Given the description of an element on the screen output the (x, y) to click on. 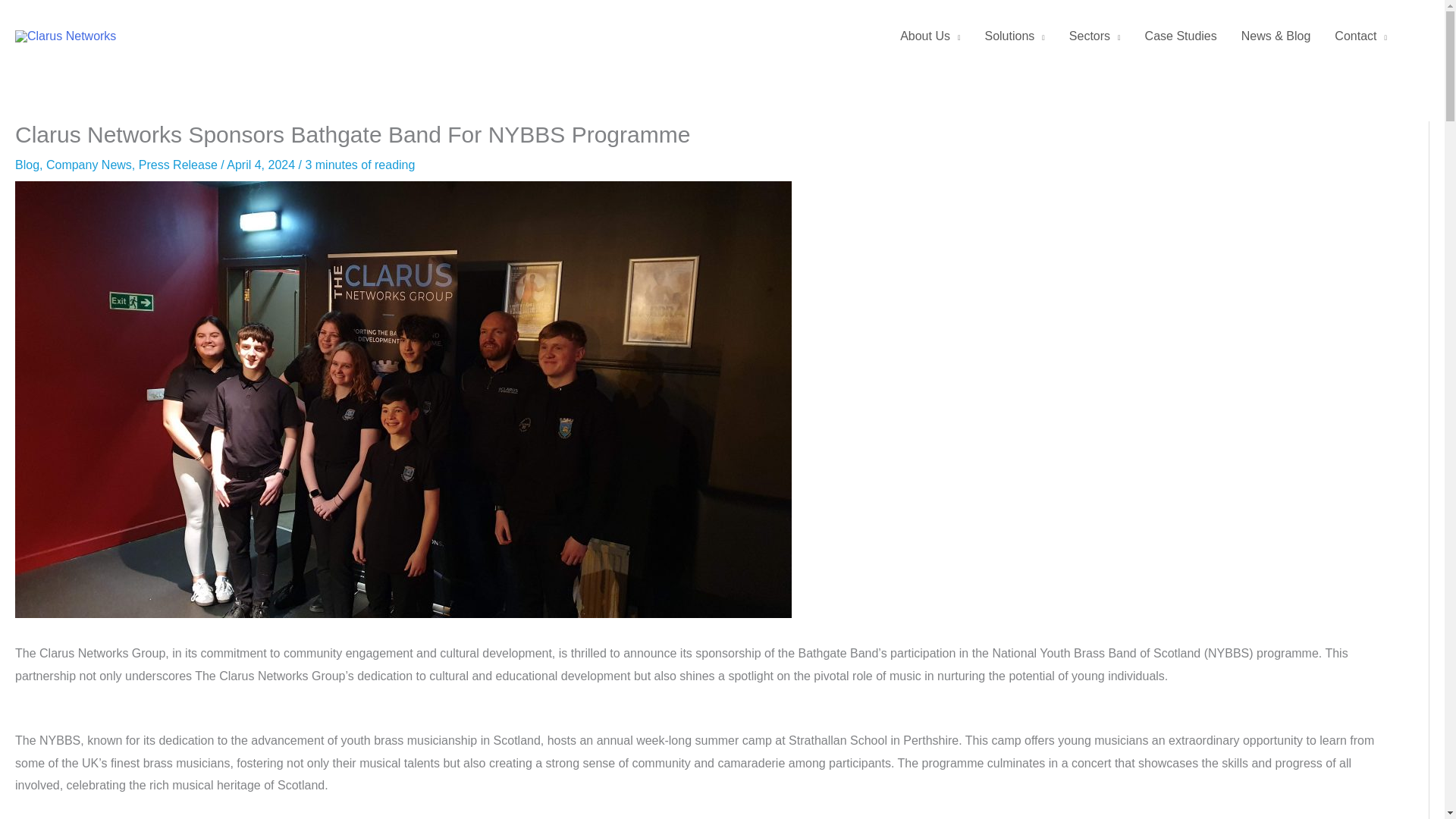
Solutions (1014, 36)
Sectors (1094, 36)
About Us (930, 36)
